Given the description of an element on the screen output the (x, y) to click on. 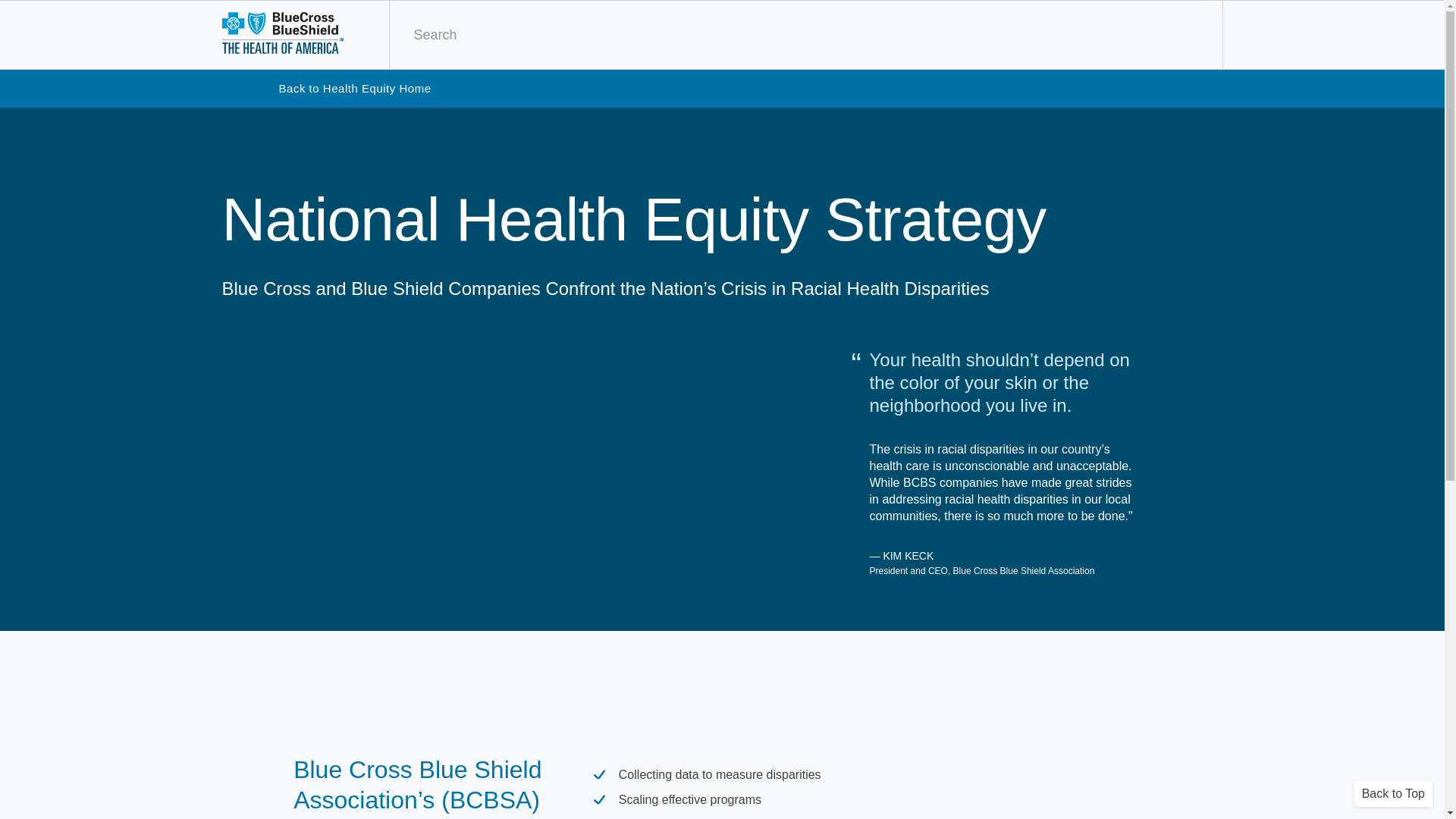
Back to Top (1393, 793)
Back to Health Equity Home (354, 88)
Back to Top (1393, 793)
